Given the description of an element on the screen output the (x, y) to click on. 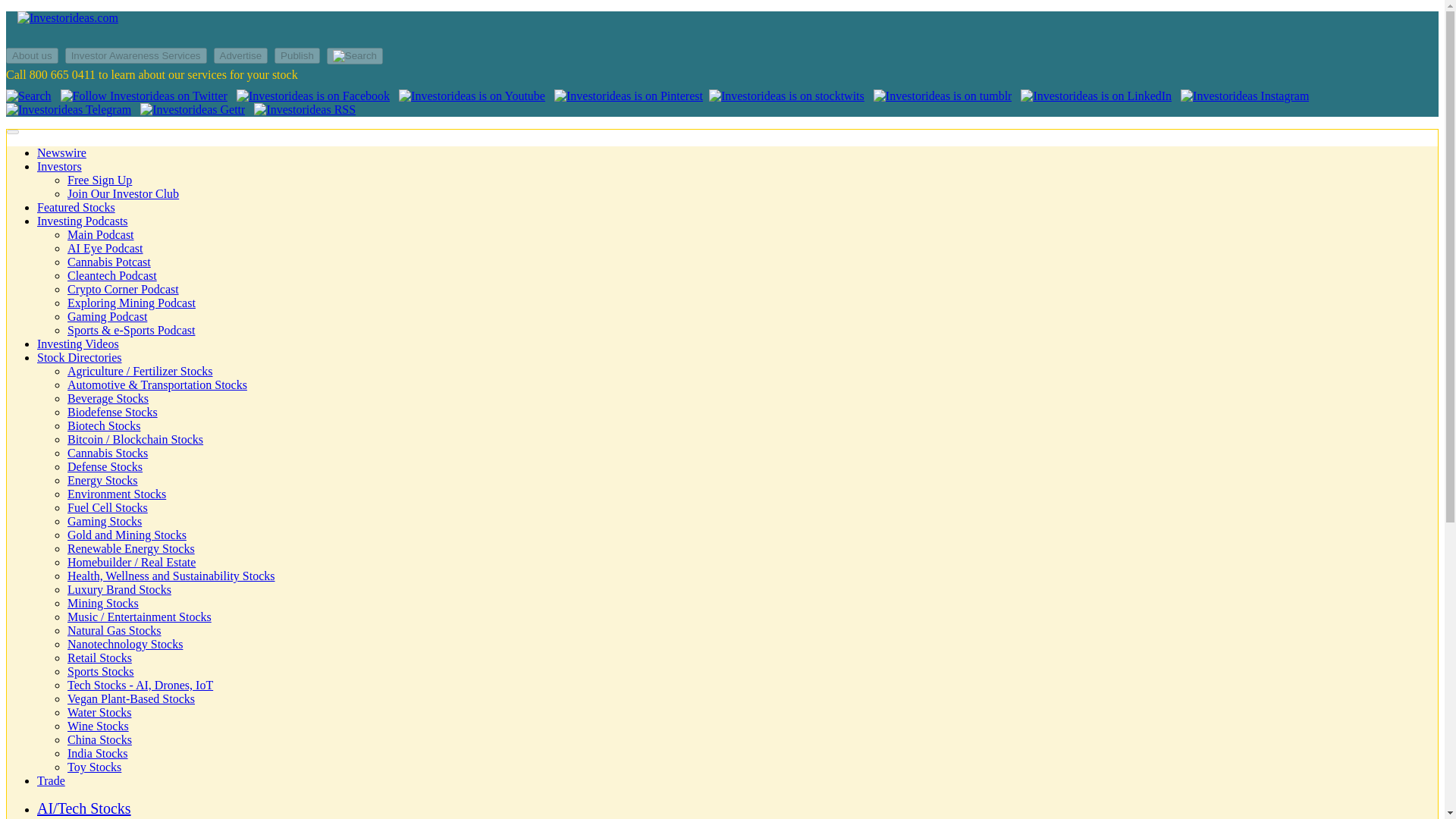
Stock Directories (79, 357)
Cleantech Podcast (111, 275)
Advertise (243, 54)
AI Eye Podcast (104, 247)
About us (33, 54)
Featured Stocks (76, 206)
Publish (299, 54)
Crypto Corner Podcast (122, 288)
Cannabis Potcast (108, 261)
Join Our Investor Club (122, 193)
Publish (297, 55)
Investors (59, 165)
Investor Awareness Services (138, 54)
Investor Awareness Services (135, 55)
Newswire (61, 152)
